Given the description of an element on the screen output the (x, y) to click on. 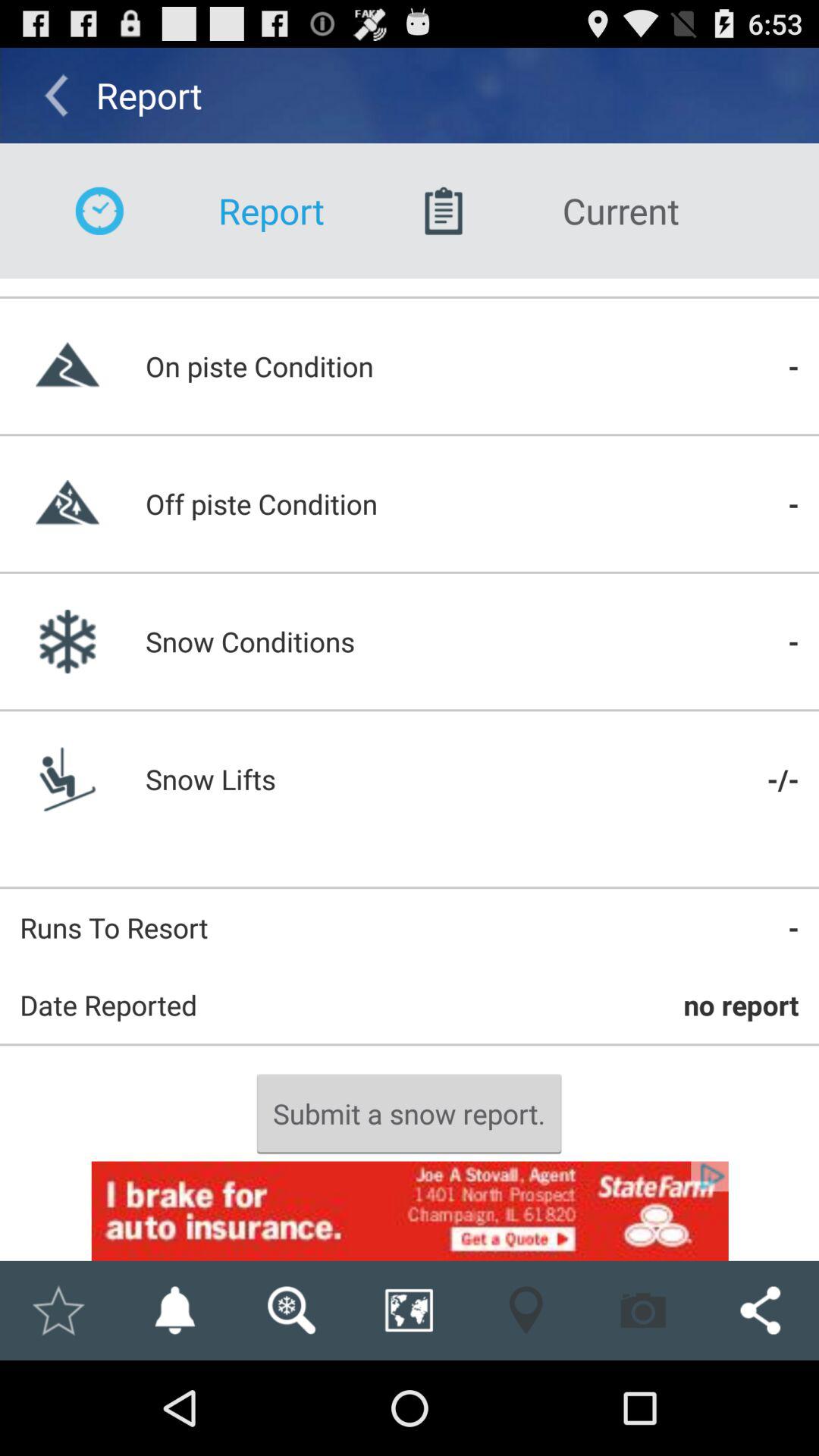
view favorites (58, 1310)
